Given the description of an element on the screen output the (x, y) to click on. 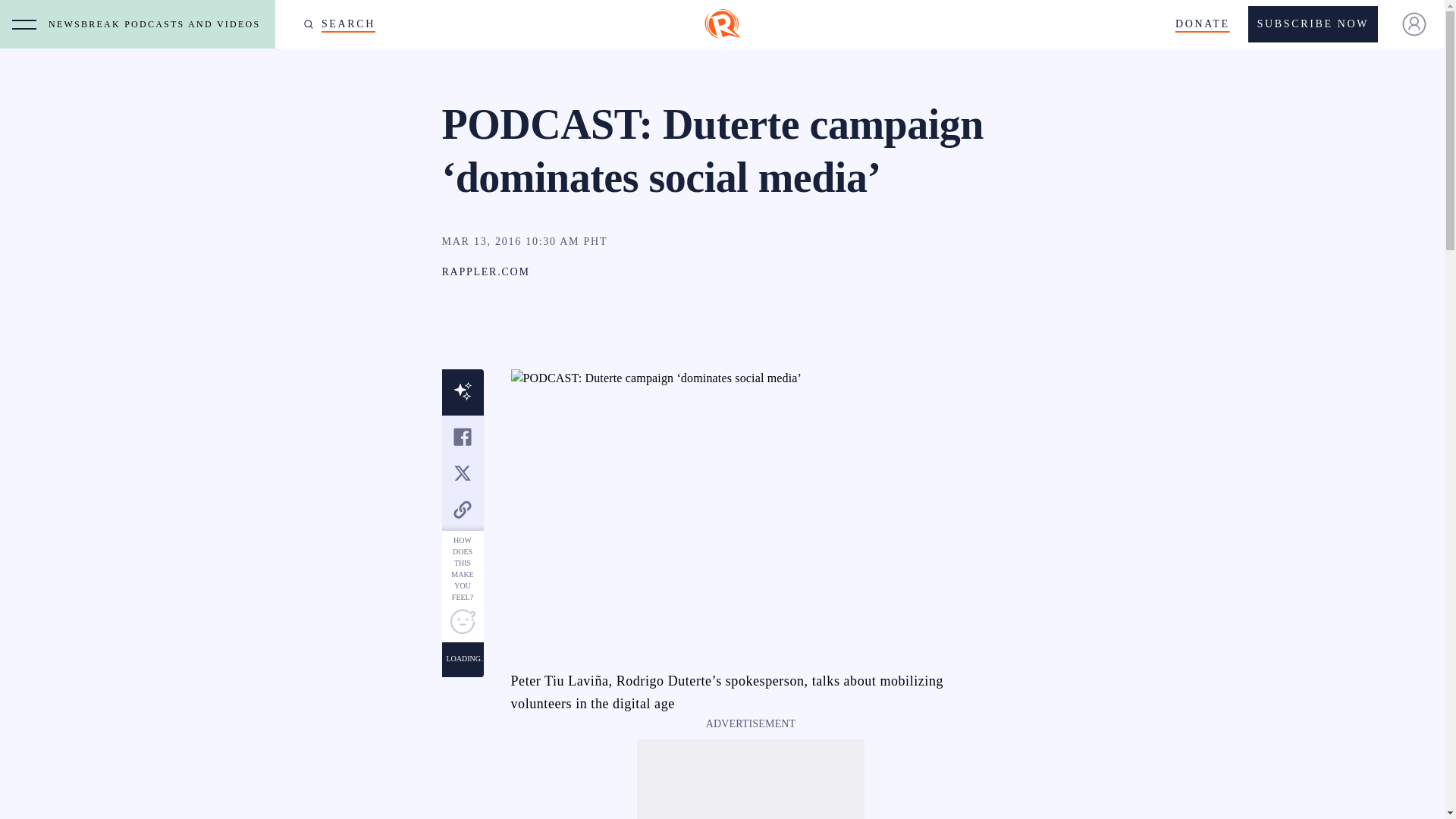
OPEN NAVIGATION (24, 24)
NEWSBREAK PODCASTS AND VIDEOS (157, 23)
